Given the description of an element on the screen output the (x, y) to click on. 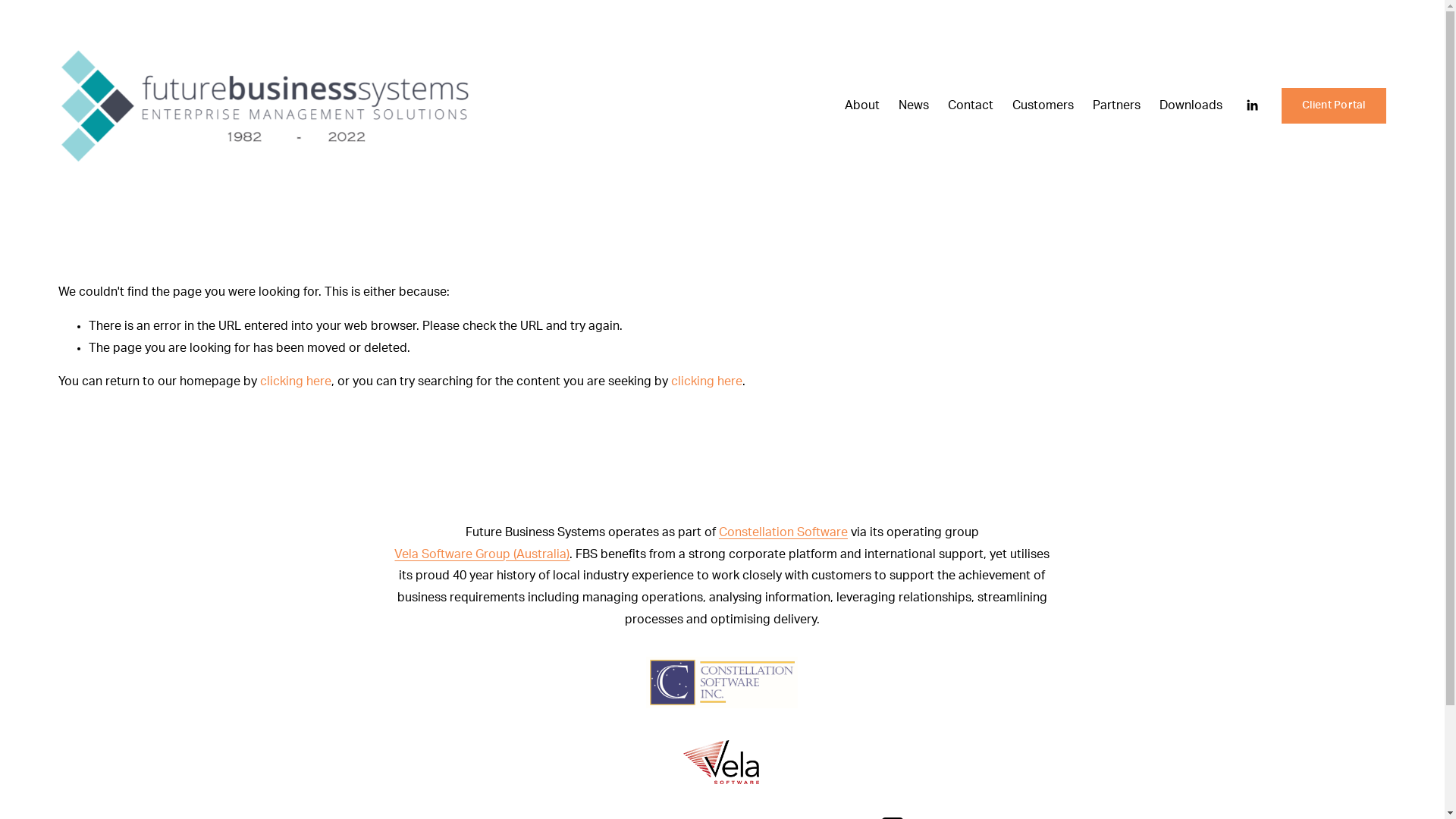
About Element type: text (861, 105)
Client Portal Element type: text (1333, 105)
News Element type: text (913, 105)
Customers Element type: text (1042, 105)
Downloads Element type: text (1190, 105)
clicking here Element type: text (706, 381)
Vela Software Group (Australia) Element type: text (481, 554)
Constellation Software Element type: text (782, 532)
Contact Element type: text (970, 105)
Partners Element type: text (1116, 105)
clicking here Element type: text (295, 381)
